Given the description of an element on the screen output the (x, y) to click on. 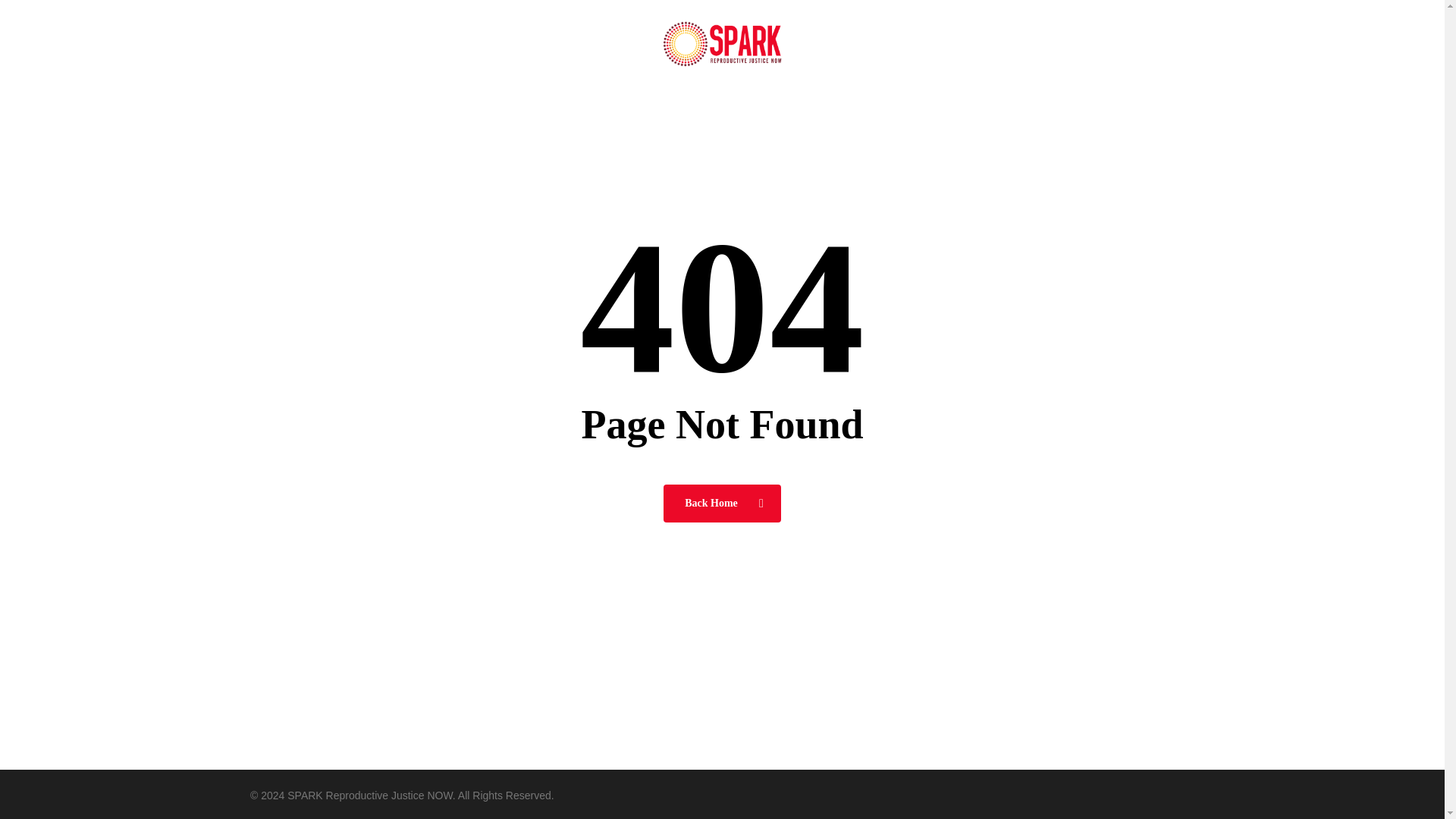
Back Home (721, 502)
